Given the description of an element on the screen output the (x, y) to click on. 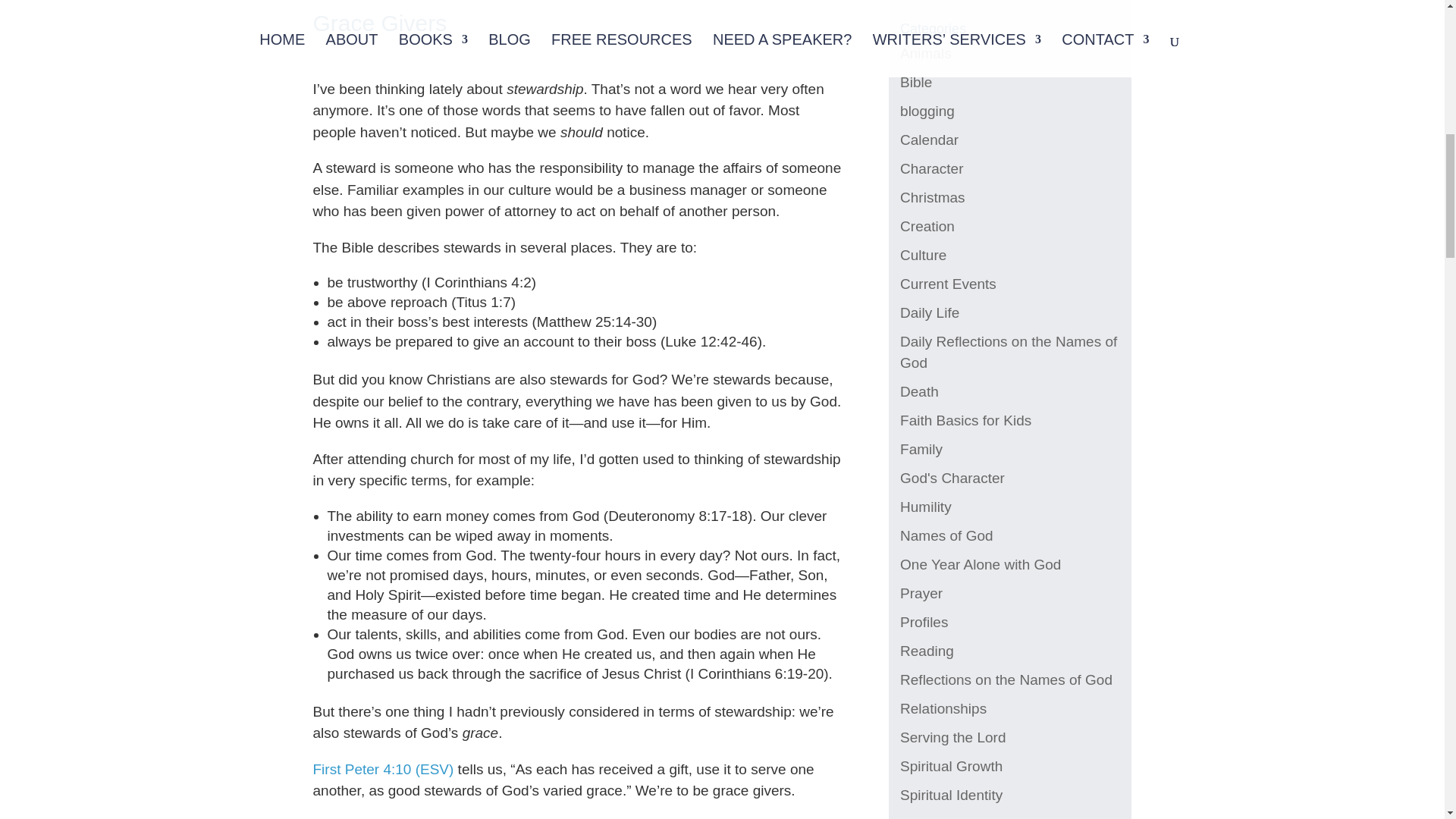
Animals (925, 53)
blogging (927, 110)
Current Events (947, 283)
Calendar (928, 139)
Christmas (932, 197)
Creation (927, 226)
Character (930, 168)
Daily Life (929, 312)
Culture (922, 254)
Daily Reflections on the Names of God (1007, 352)
